Given the description of an element on the screen output the (x, y) to click on. 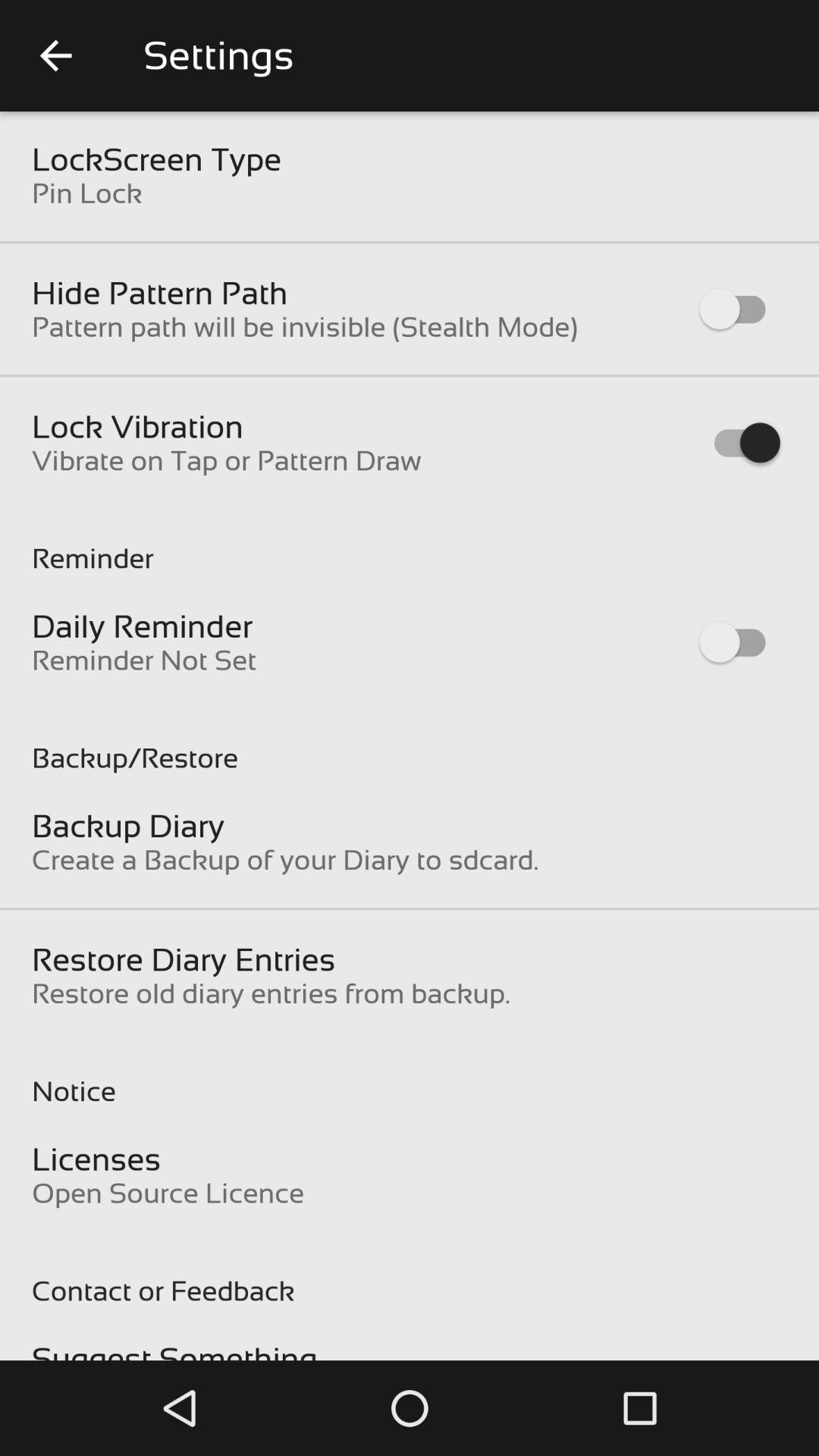
turn off the daily reminder icon (141, 626)
